Given the description of an element on the screen output the (x, y) to click on. 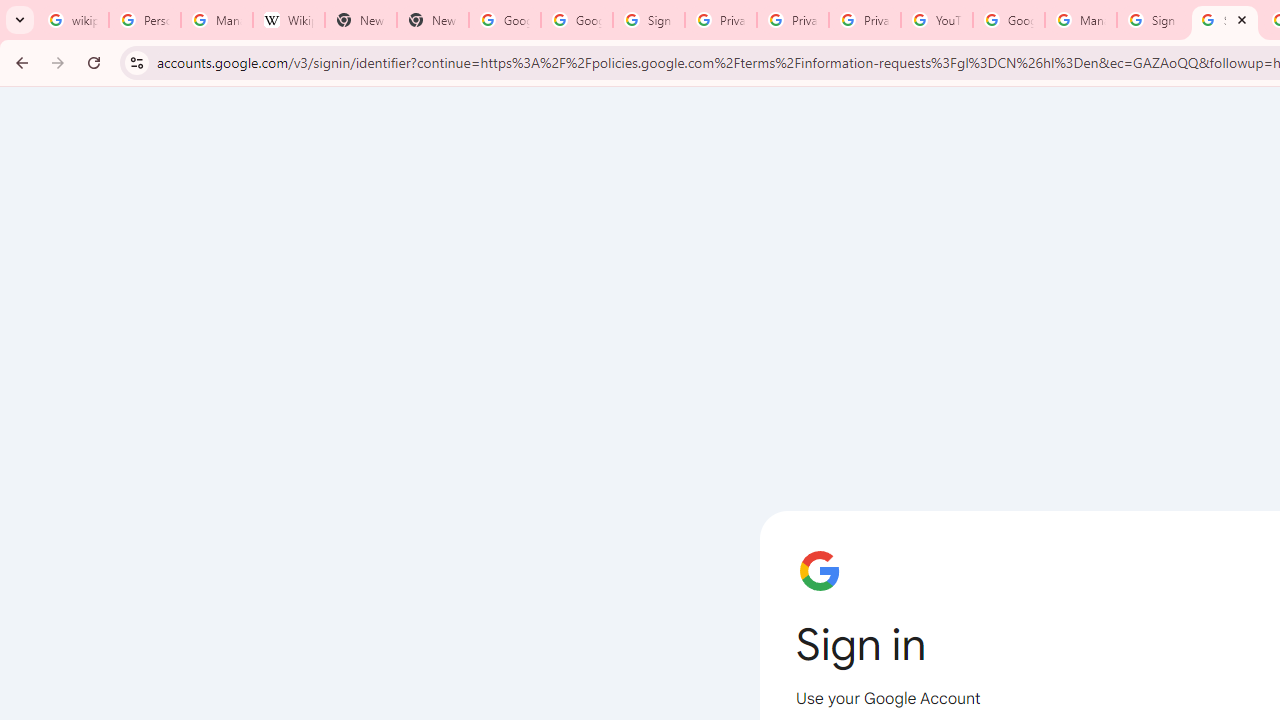
Personalization & Google Search results - Google Search Help (144, 20)
Sign in - Google Accounts (1224, 20)
Sign in - Google Accounts (648, 20)
